Given the description of an element on the screen output the (x, y) to click on. 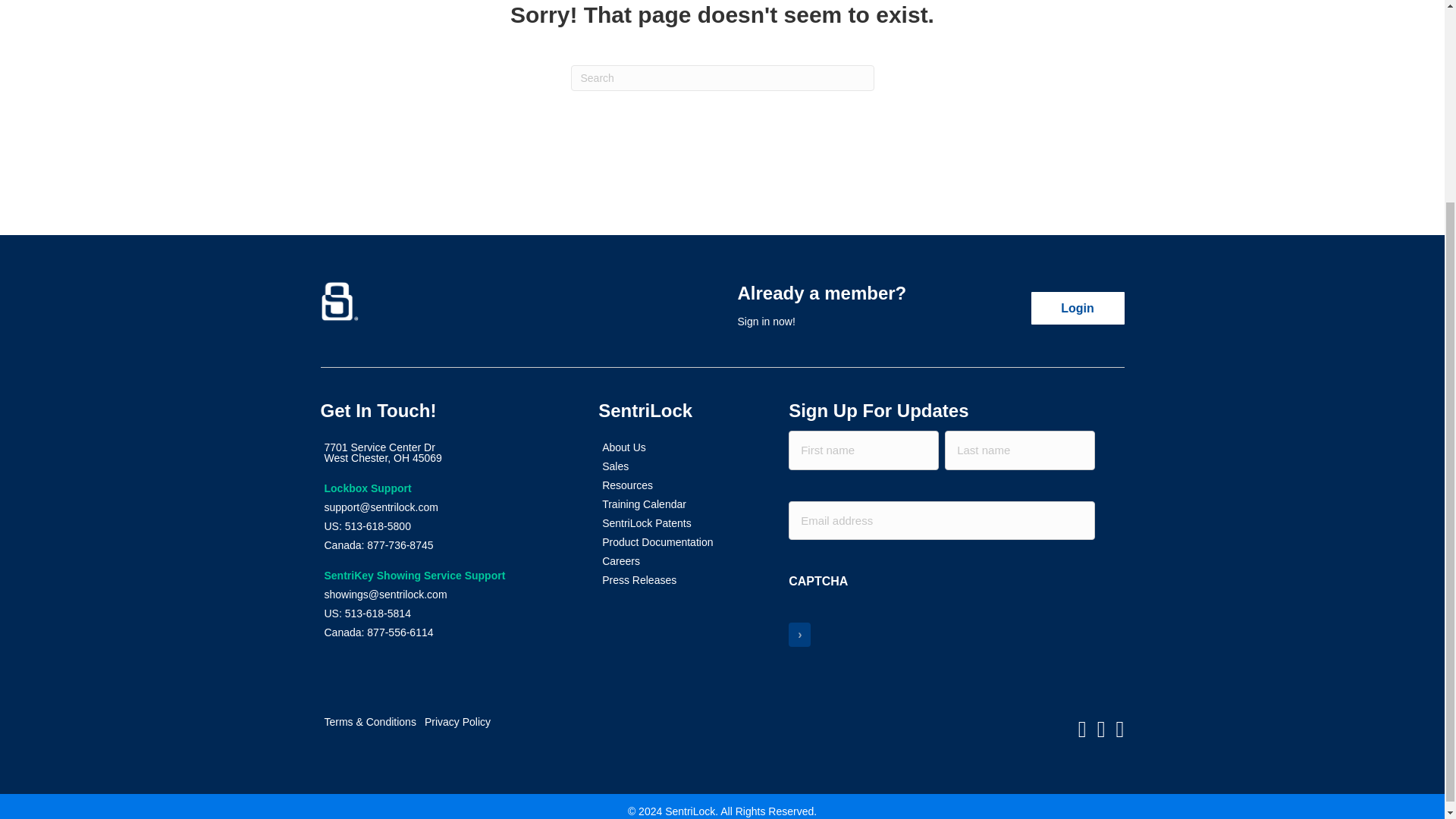
SentriKey Showing Service Support (443, 452)
US: 513-618-5800 (443, 575)
US: 513-618-5814 (443, 525)
About Us (443, 613)
Lockbox Support (670, 447)
Canada: 877-556-6114 (443, 488)
Canada: 877-736-8745 (443, 632)
Login (443, 545)
Type and press Enter to search. (1077, 307)
